Given the description of an element on the screen output the (x, y) to click on. 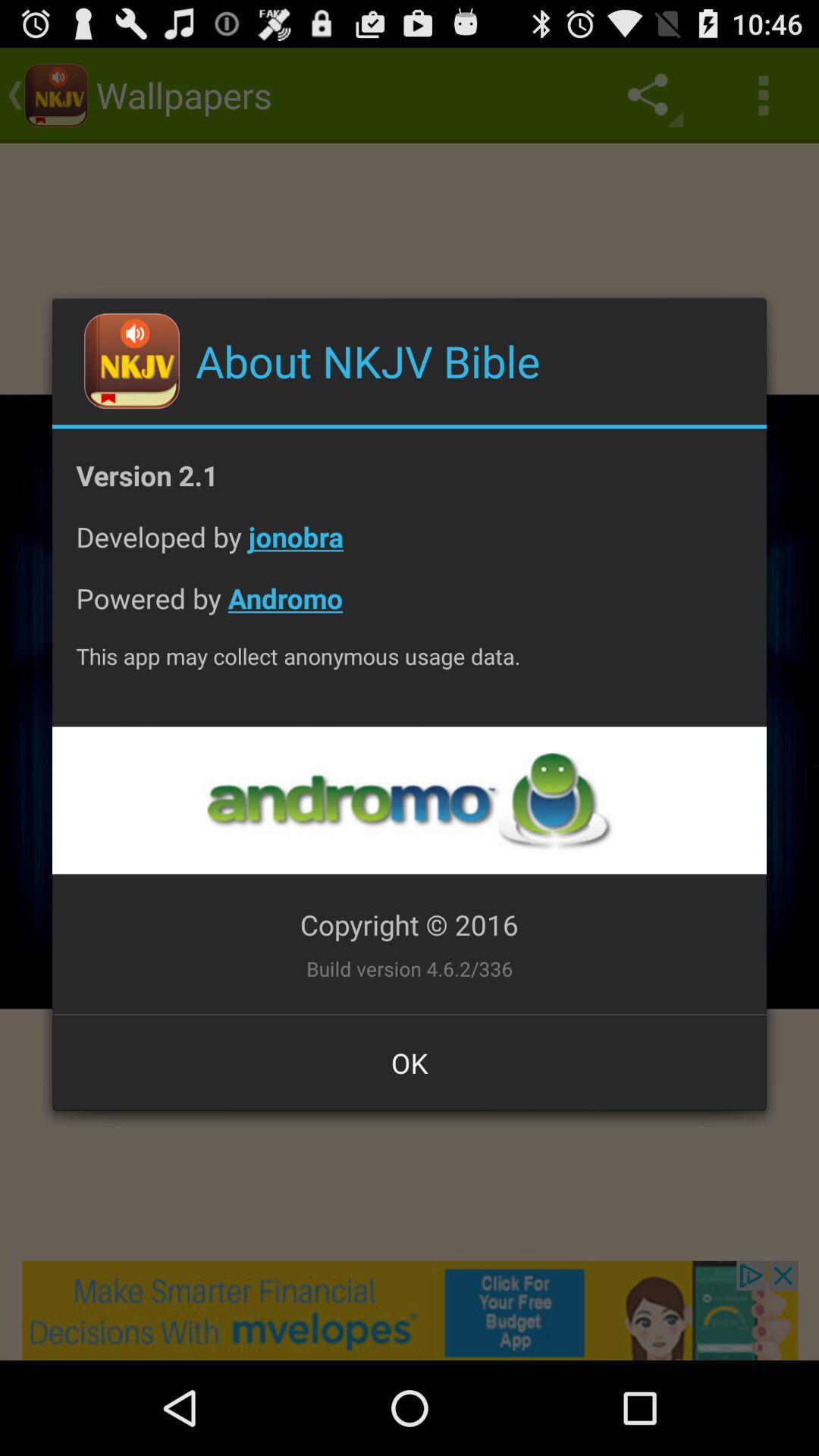
launch app below version 2.1 icon (409, 548)
